Given the description of an element on the screen output the (x, y) to click on. 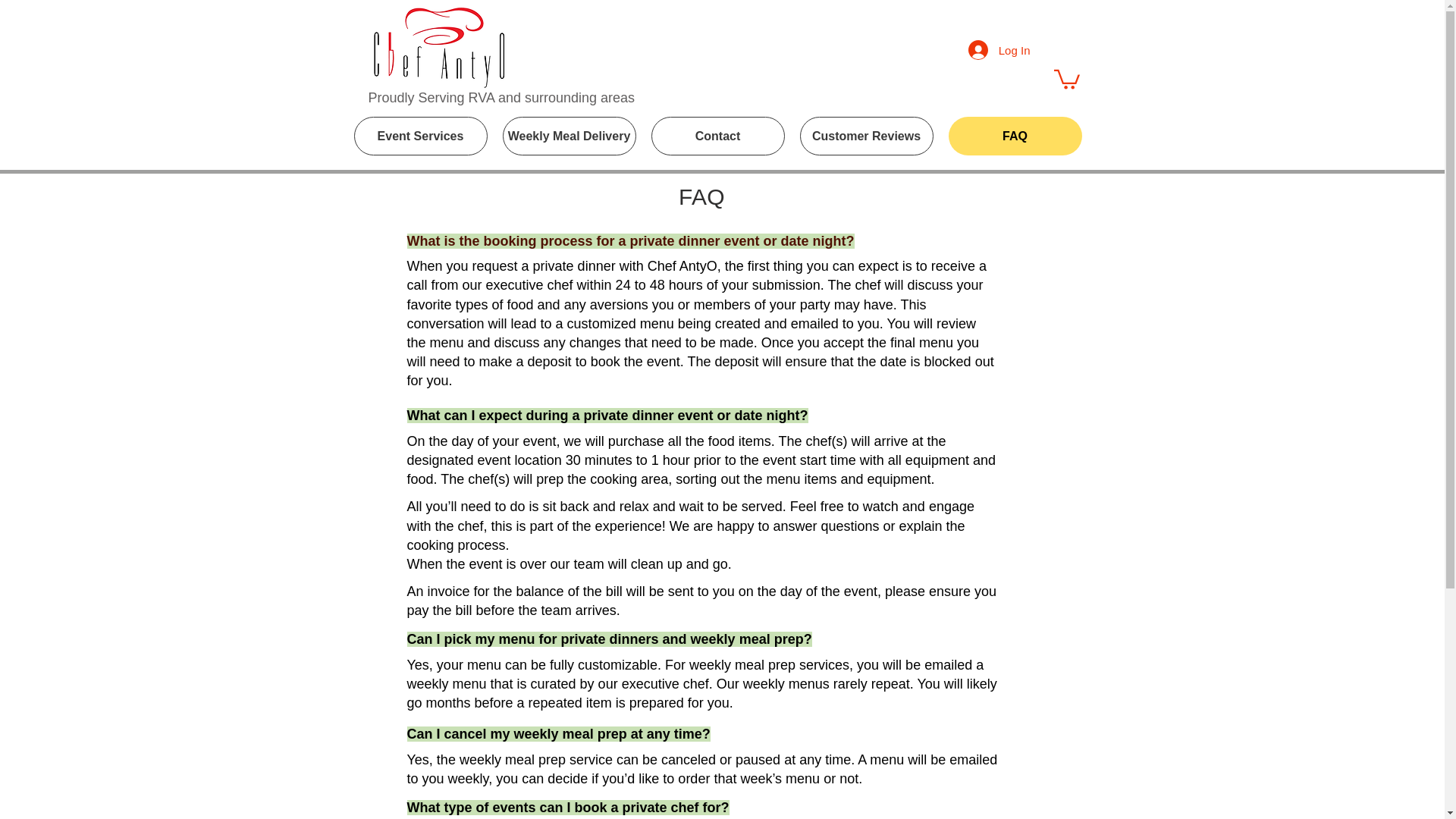
Customer Reviews (866, 136)
Log In (999, 50)
Event Services (419, 136)
Contact (717, 136)
FAQ (1014, 136)
Weekly Meal Delivery (568, 136)
